Given the description of an element on the screen output the (x, y) to click on. 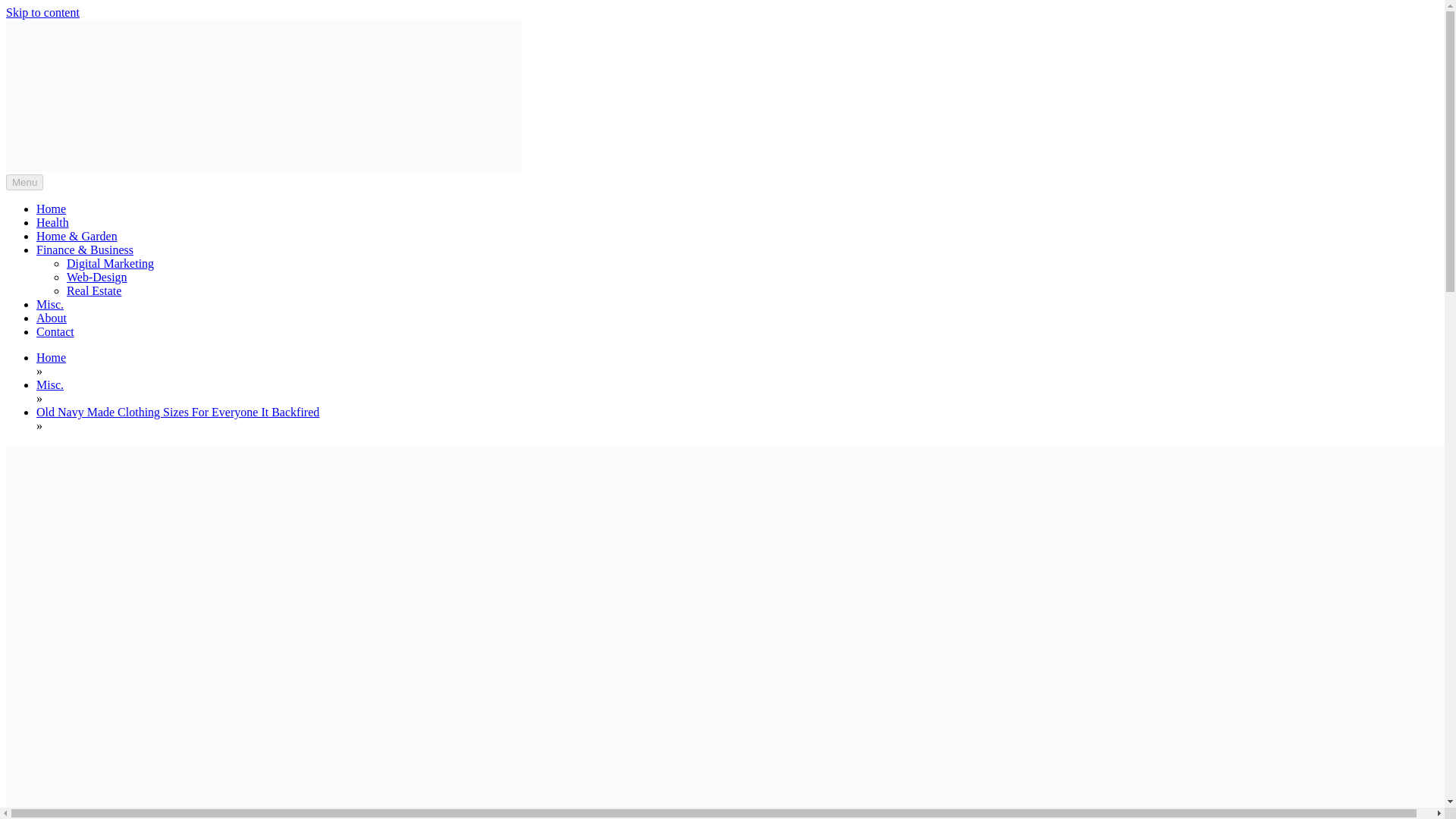
Home (50, 357)
Design for Everyone (84, 199)
Digital Marketing (110, 263)
Misc. (50, 304)
Web-Design (97, 277)
Old Navy Made Clothing Sizes For Everyone It Backfired (177, 411)
Health (52, 222)
About (51, 318)
Menu (24, 182)
Skip to content (42, 11)
